Given the description of an element on the screen output the (x, y) to click on. 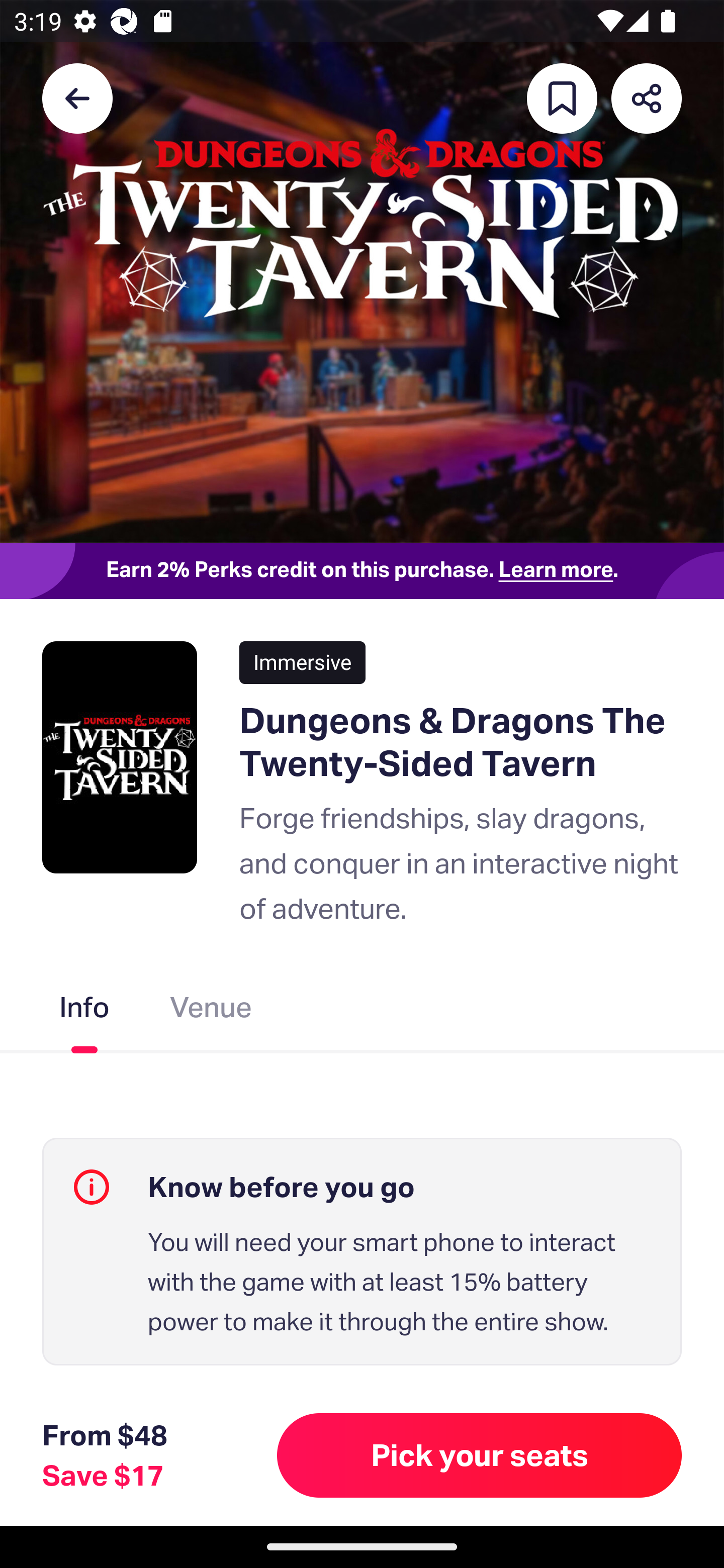
Earn 2% Perks credit on this purchase. Learn more. (362, 570)
Venue (210, 1011)
About Dungeons & Dragons The Twenty-Sided Tavern (361, 1448)
Pick your seats (479, 1454)
